Given the description of an element on the screen output the (x, y) to click on. 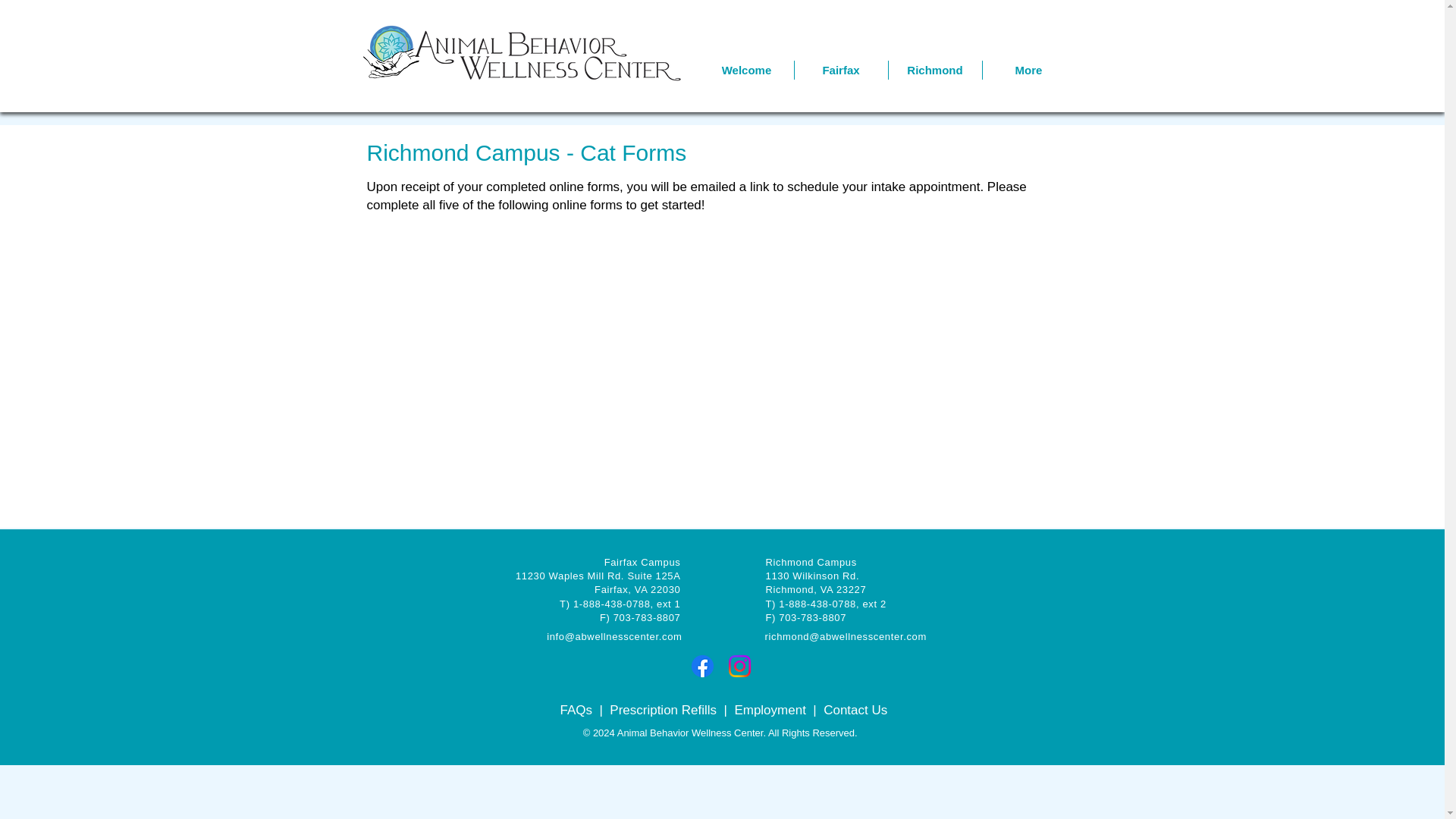
Welcome (745, 69)
